Given the description of an element on the screen output the (x, y) to click on. 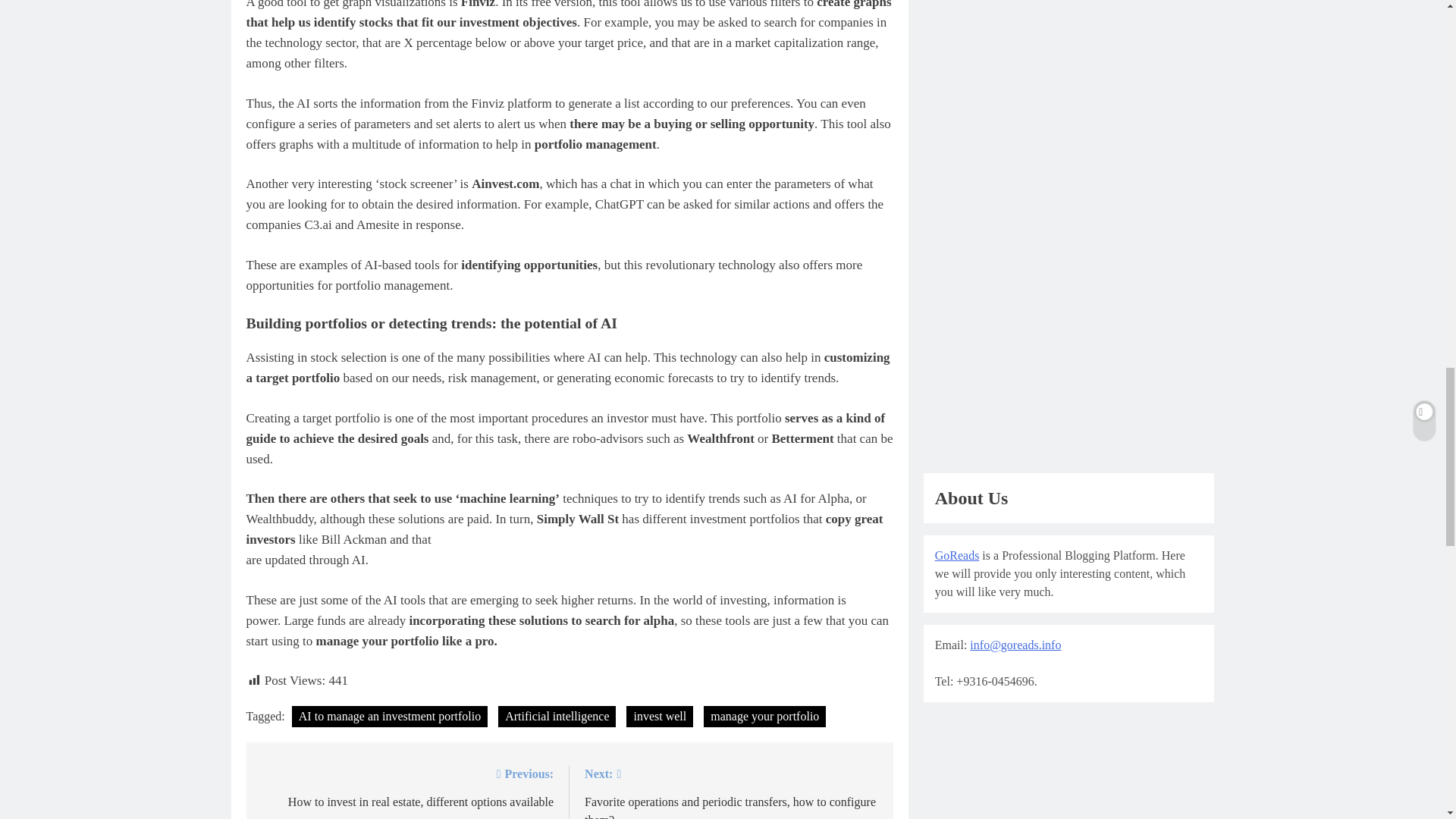
invest well (659, 716)
Artificial intelligence (556, 716)
AI to manage an investment portfolio (389, 716)
